Given the description of an element on the screen output the (x, y) to click on. 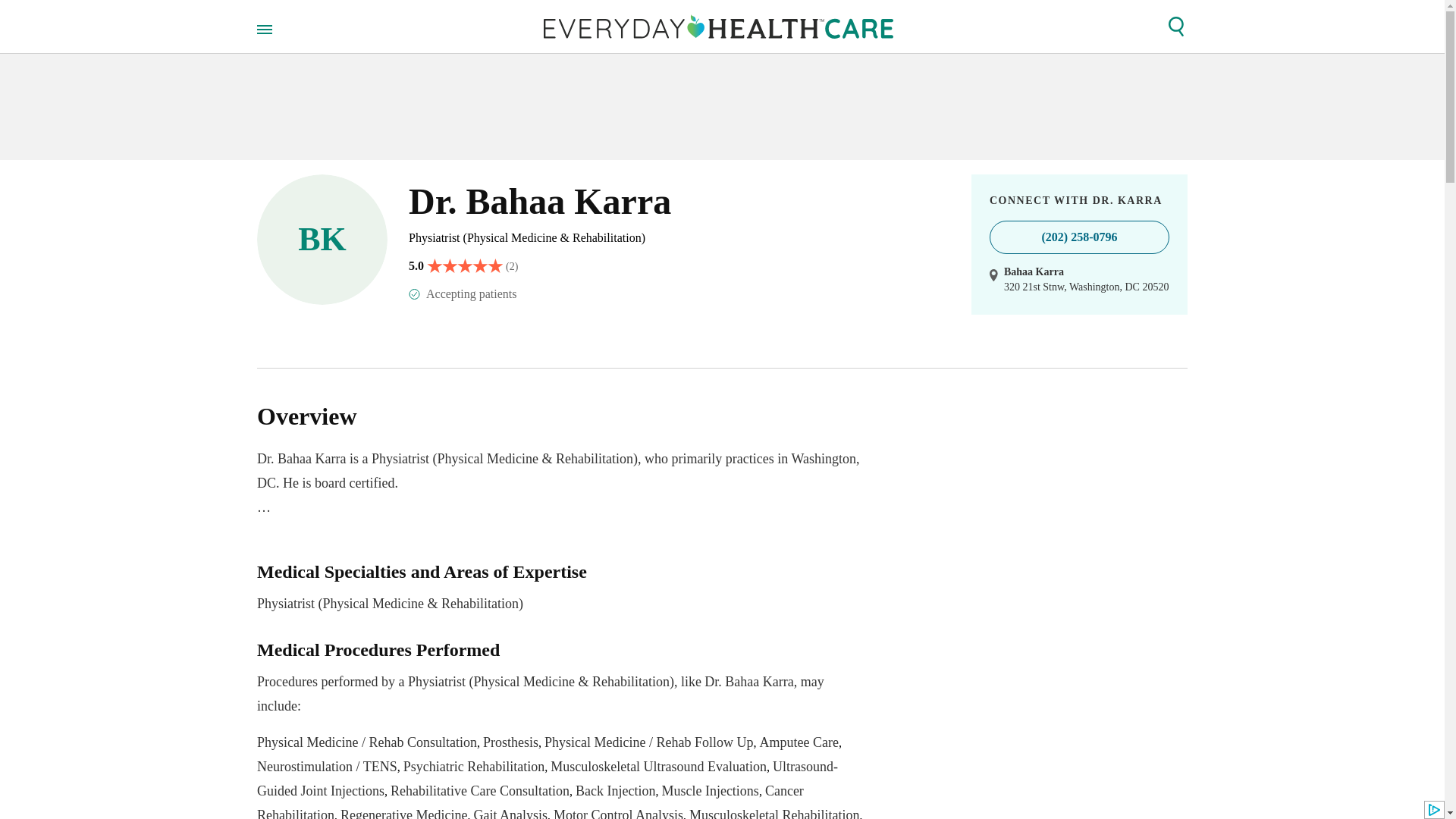
Rehabilitative Care Consultation (479, 790)
Motor Control Analysis (617, 813)
Musculoskeletal Ultrasound Evaluation (658, 766)
Regenerative Medicine (403, 813)
Back Injection (615, 790)
Musculoskeletal Rehabilitation (773, 813)
Muscle Injections (709, 790)
Ultrasound-Guided Joint Injections (547, 778)
Prosthesis (510, 742)
Cancer Rehabilitation (530, 800)
